Given the description of an element on the screen output the (x, y) to click on. 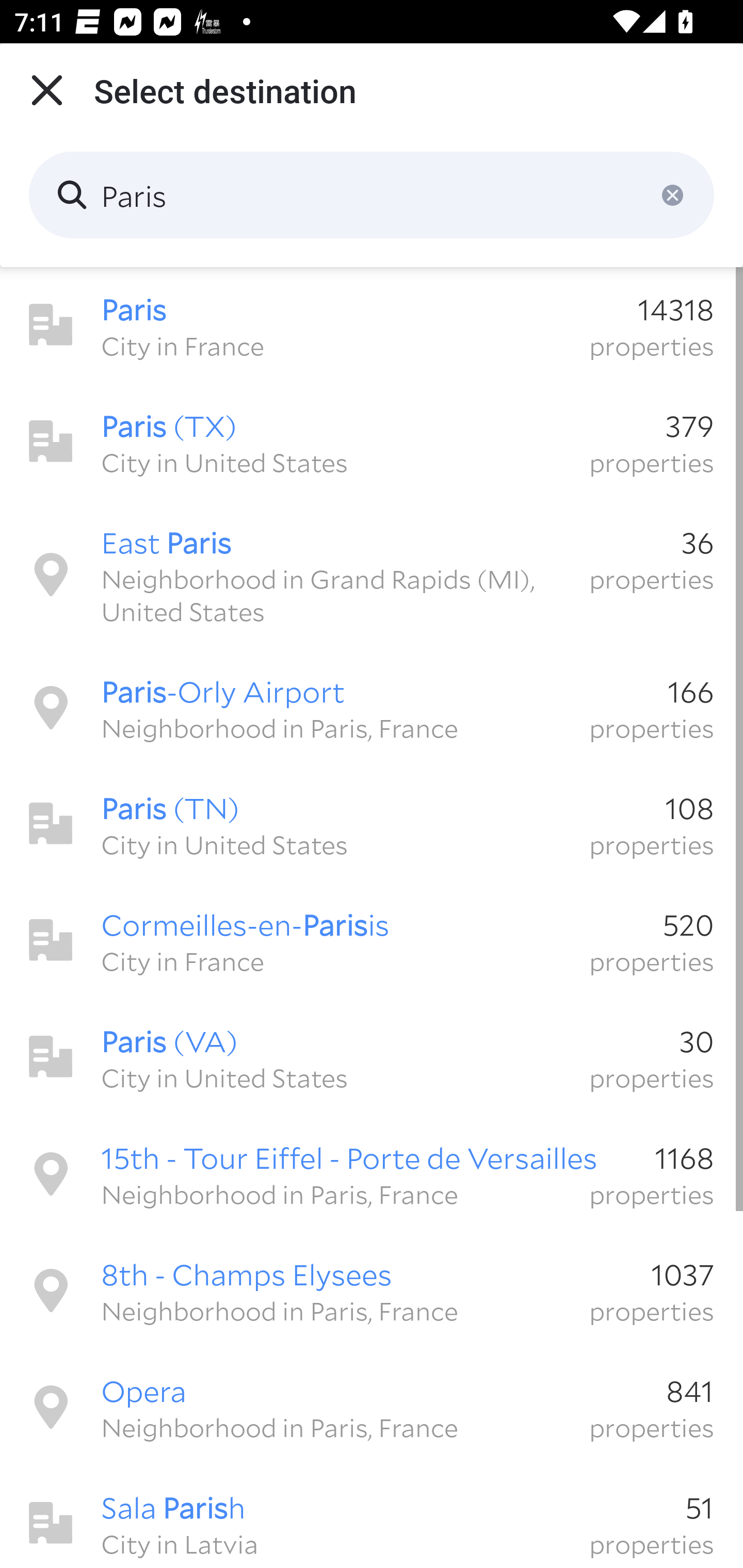
Paris (371, 195)
Paris 14318 City in France properties (371, 325)
Paris (TX) 379 City in United States properties (371, 442)
Paris (TN) 108 City in United States properties (371, 823)
Paris (VA) 30 City in United States properties (371, 1057)
Opera 841 Neighborhood in Paris, France properties (371, 1407)
Sala Parish 51 City in Latvia properties (371, 1517)
